Given the description of an element on the screen output the (x, y) to click on. 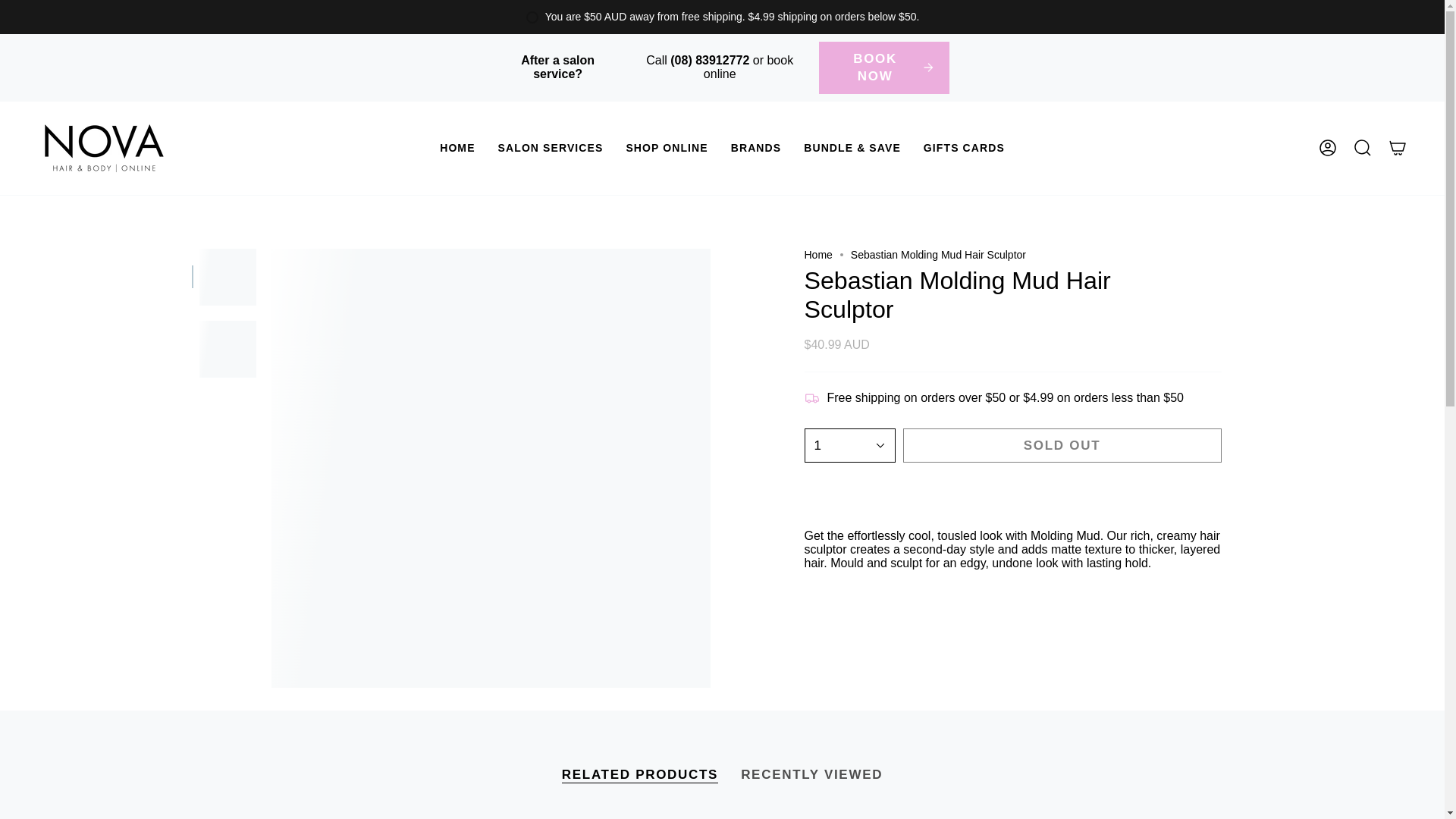
SHOP ONLINE (666, 147)
SALON SERVICES (550, 147)
BOOK NOW (884, 67)
